Given the description of an element on the screen output the (x, y) to click on. 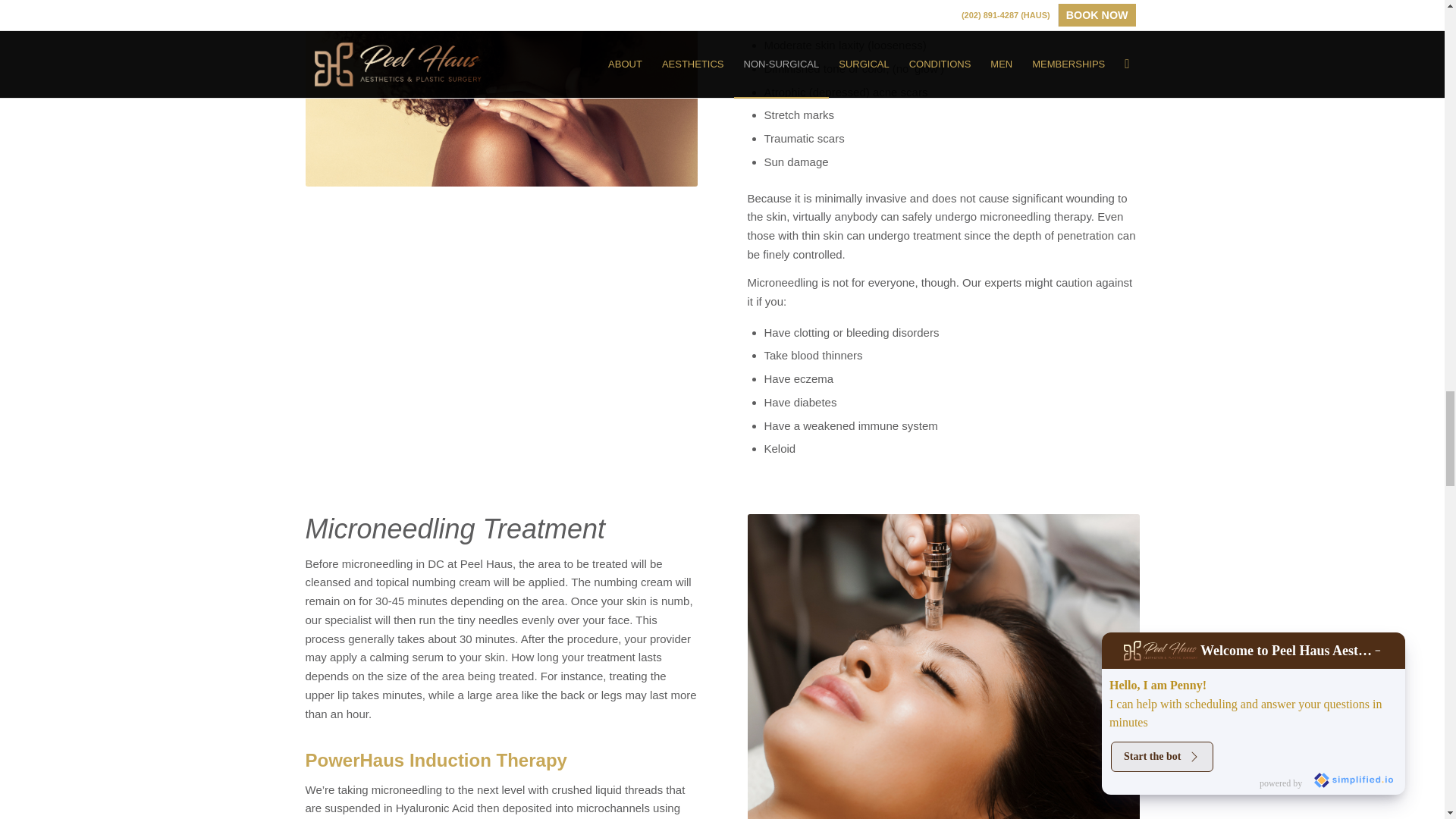
microneedling washington dc (944, 666)
microneedling (500, 93)
